Given the description of an element on the screen output the (x, y) to click on. 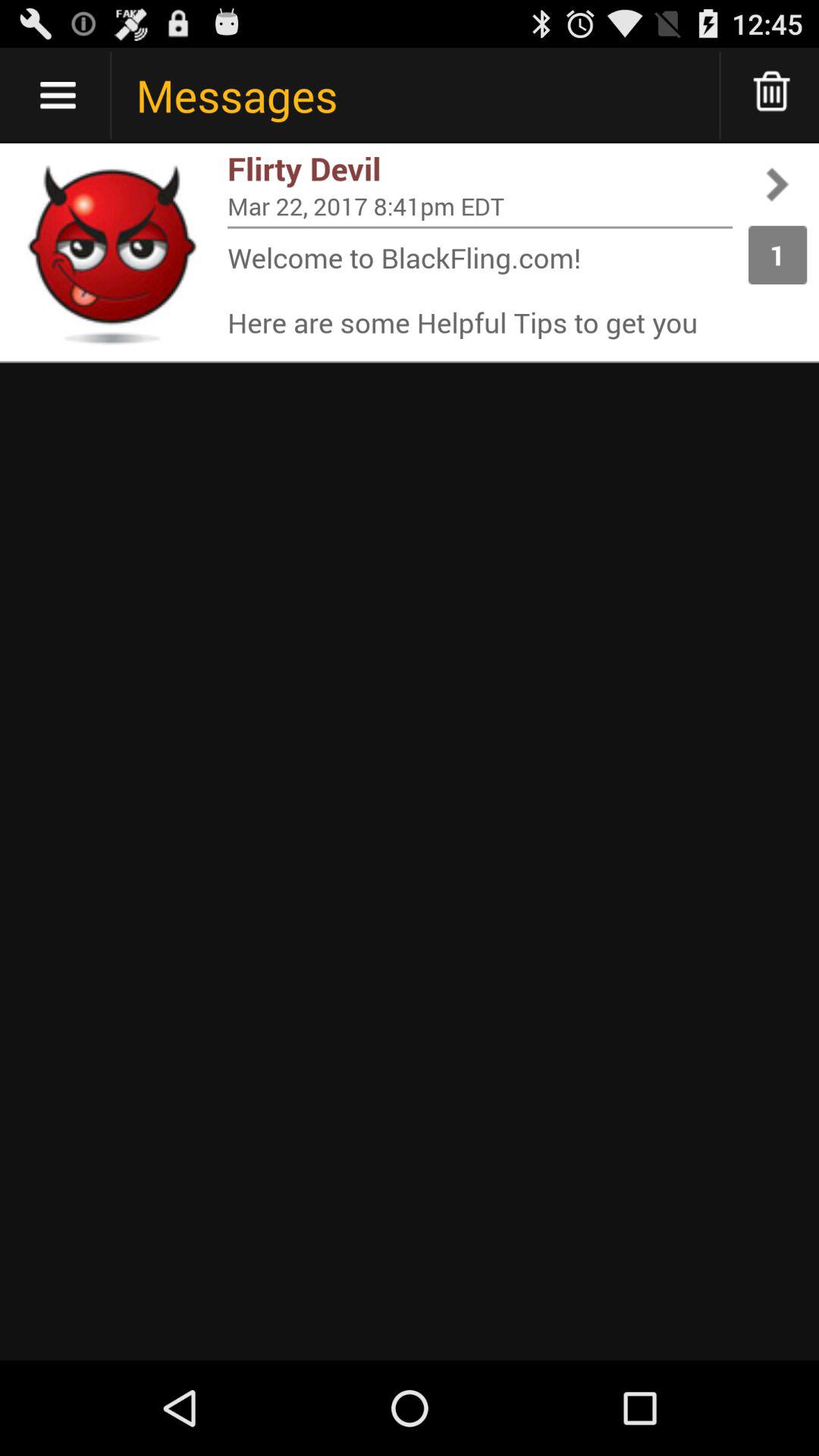
press item next to 1 app (479, 227)
